Given the description of an element on the screen output the (x, y) to click on. 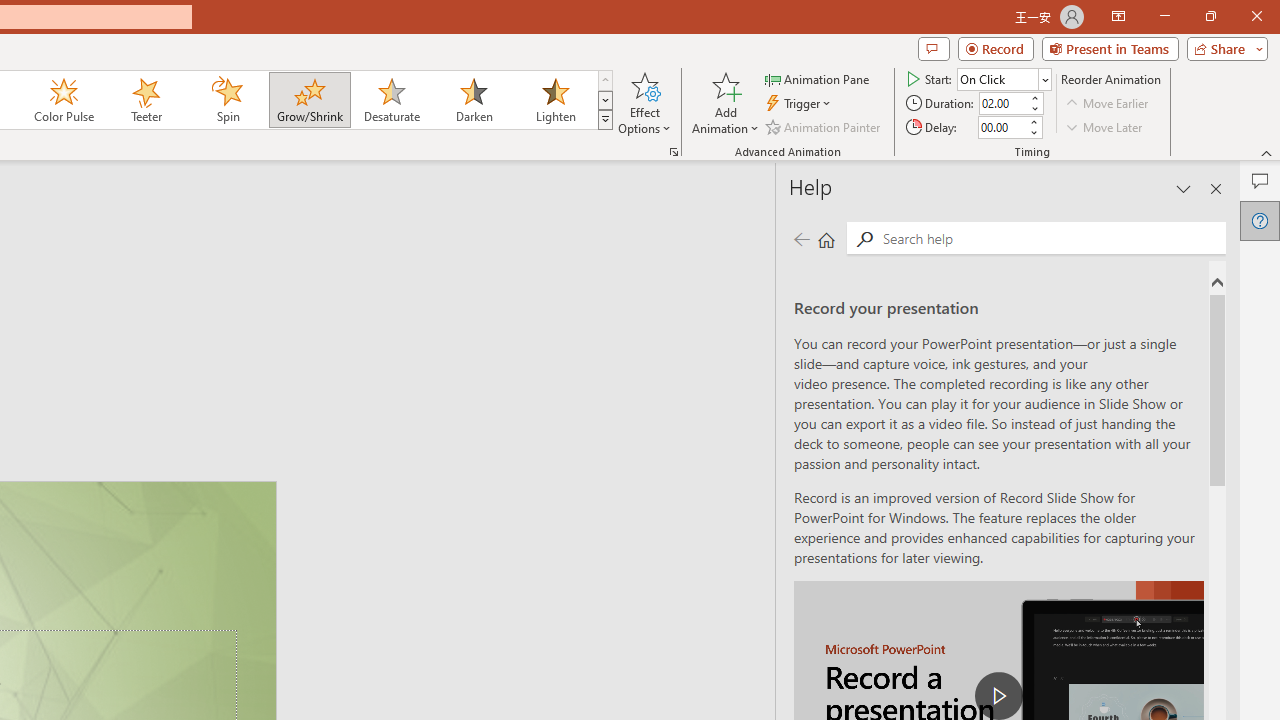
Trigger (799, 103)
Animation Duration (1003, 103)
Move Earlier (1107, 103)
Animation Pane (818, 78)
Previous page (801, 238)
Darken (473, 100)
Color Pulse (63, 100)
